Given the description of an element on the screen output the (x, y) to click on. 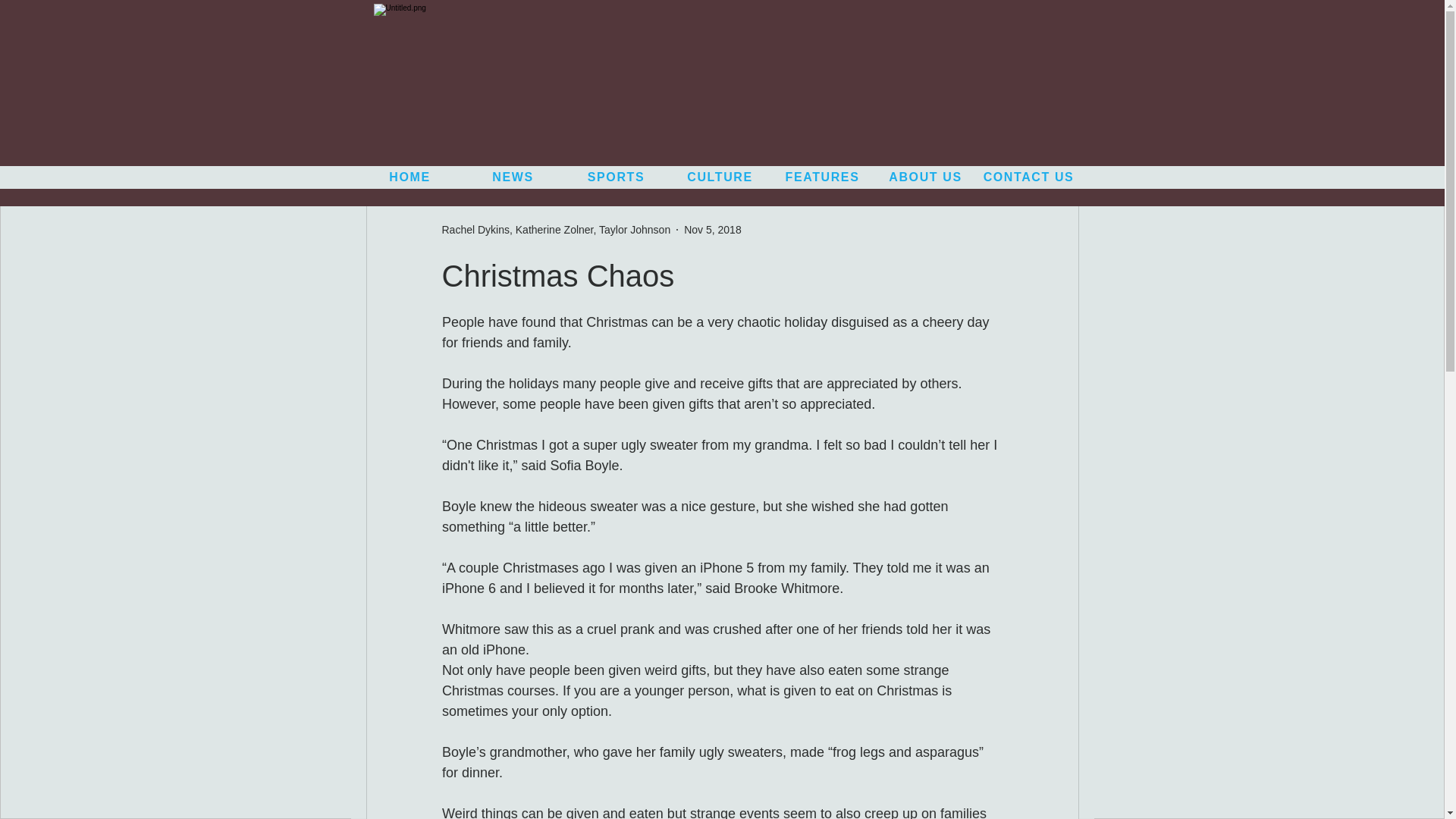
HOME (411, 177)
CULTURE (721, 177)
Rachel Dykins, Katherine Zolner, Taylor Johnson (555, 229)
NEWS (514, 177)
CONTACT US (1029, 177)
ABOUT US (926, 177)
Rachel Dykins, Katherine Zolner, Taylor Johnson (555, 229)
Nov 5, 2018 (712, 228)
FEATURES (823, 177)
SPORTS (617, 177)
